Given the description of an element on the screen output the (x, y) to click on. 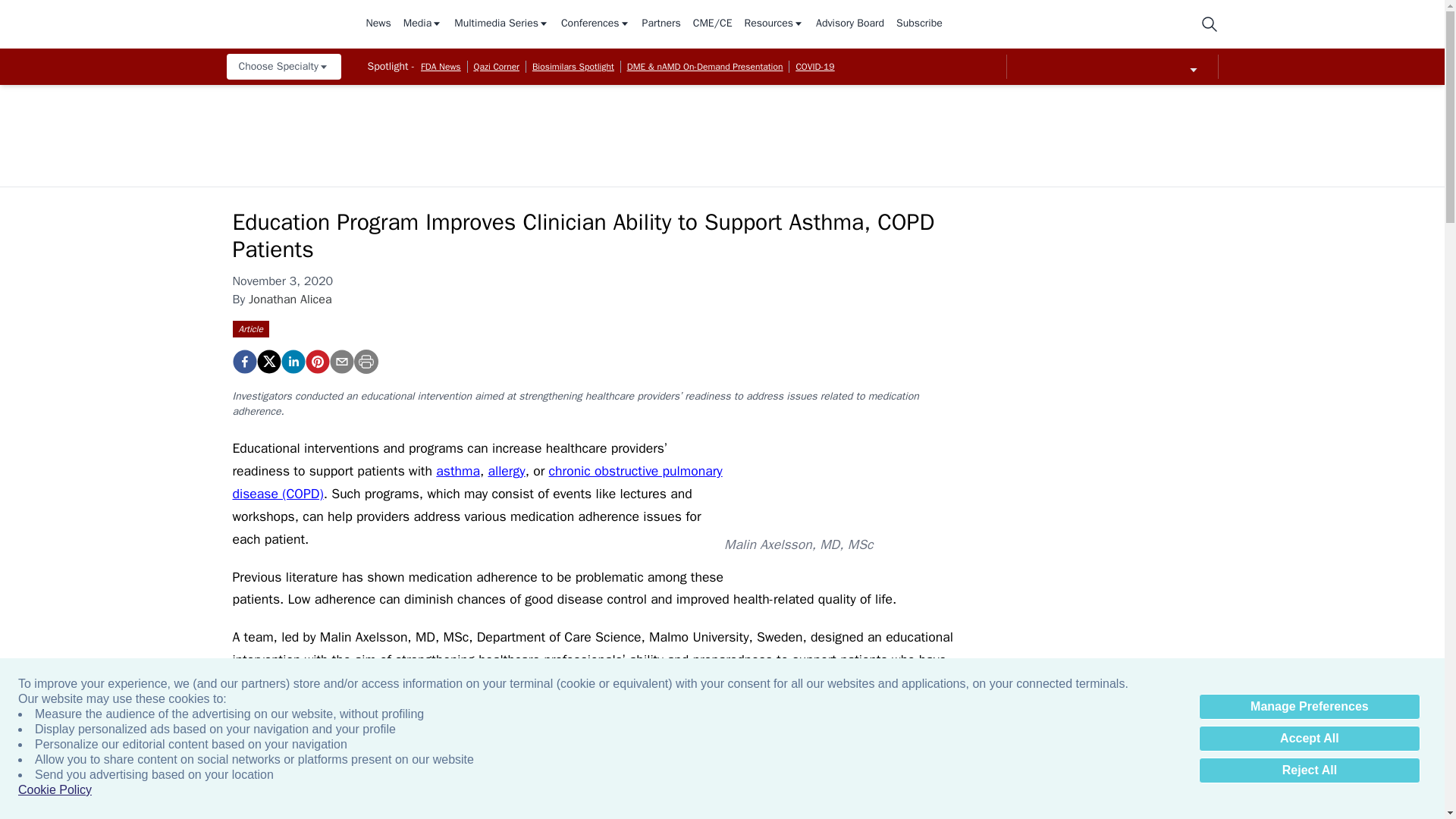
Cookie Policy (54, 789)
Partners (661, 23)
Reject All (1309, 769)
Accept All (1309, 738)
Resources (773, 23)
News (377, 23)
Manage Preferences (1309, 706)
Conferences (595, 23)
